Given the description of an element on the screen output the (x, y) to click on. 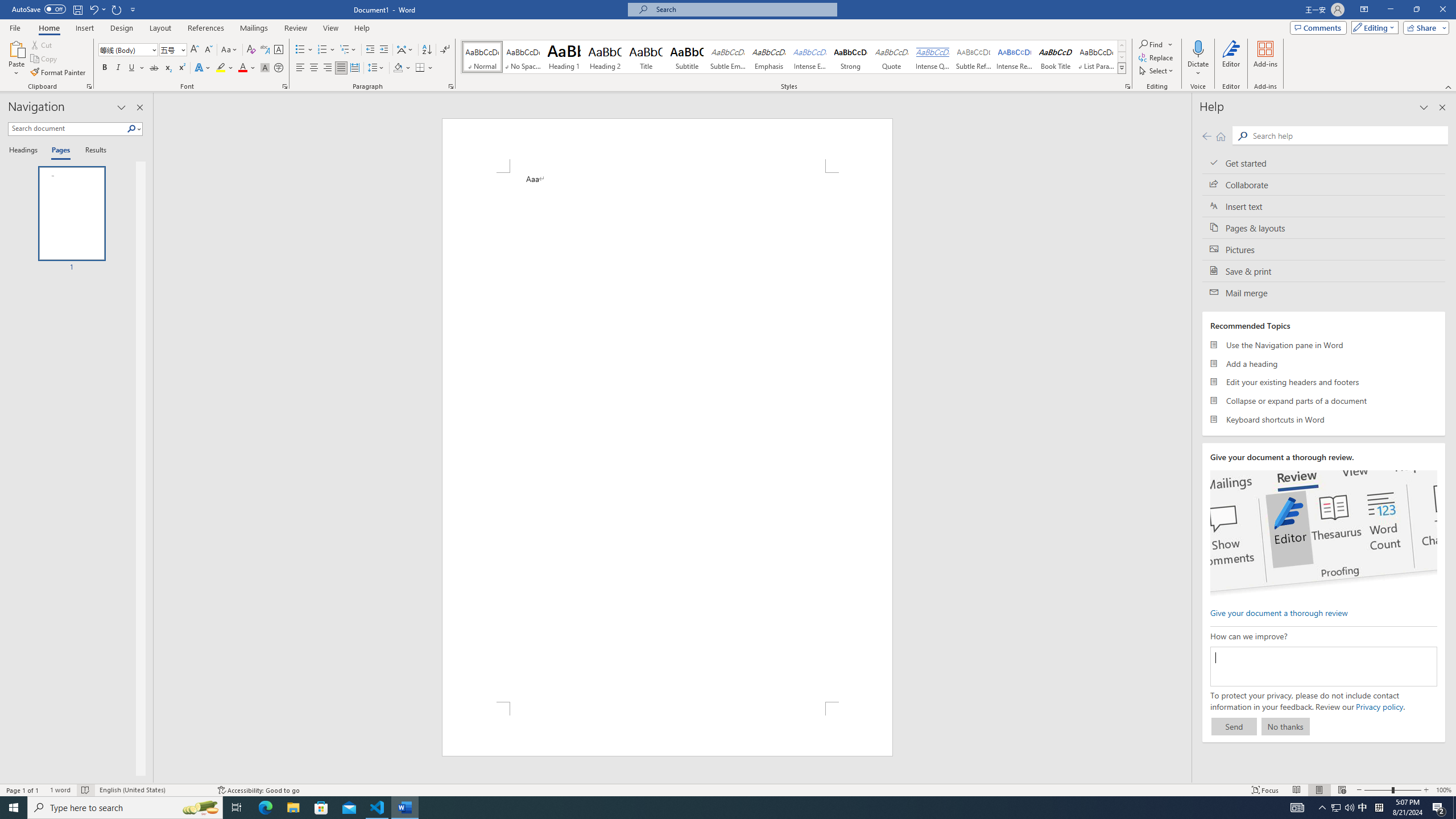
Bullets (300, 49)
Mailings (253, 28)
Print Layout (1318, 790)
Microsoft search (742, 9)
Enclose Characters... (278, 67)
Pages (59, 150)
Focus  (1265, 790)
No thanks (1285, 726)
Shrink Font (208, 49)
Add a heading (1323, 363)
Font (128, 49)
Web Layout (1342, 790)
Close (1442, 9)
Save (77, 9)
